Given the description of an element on the screen output the (x, y) to click on. 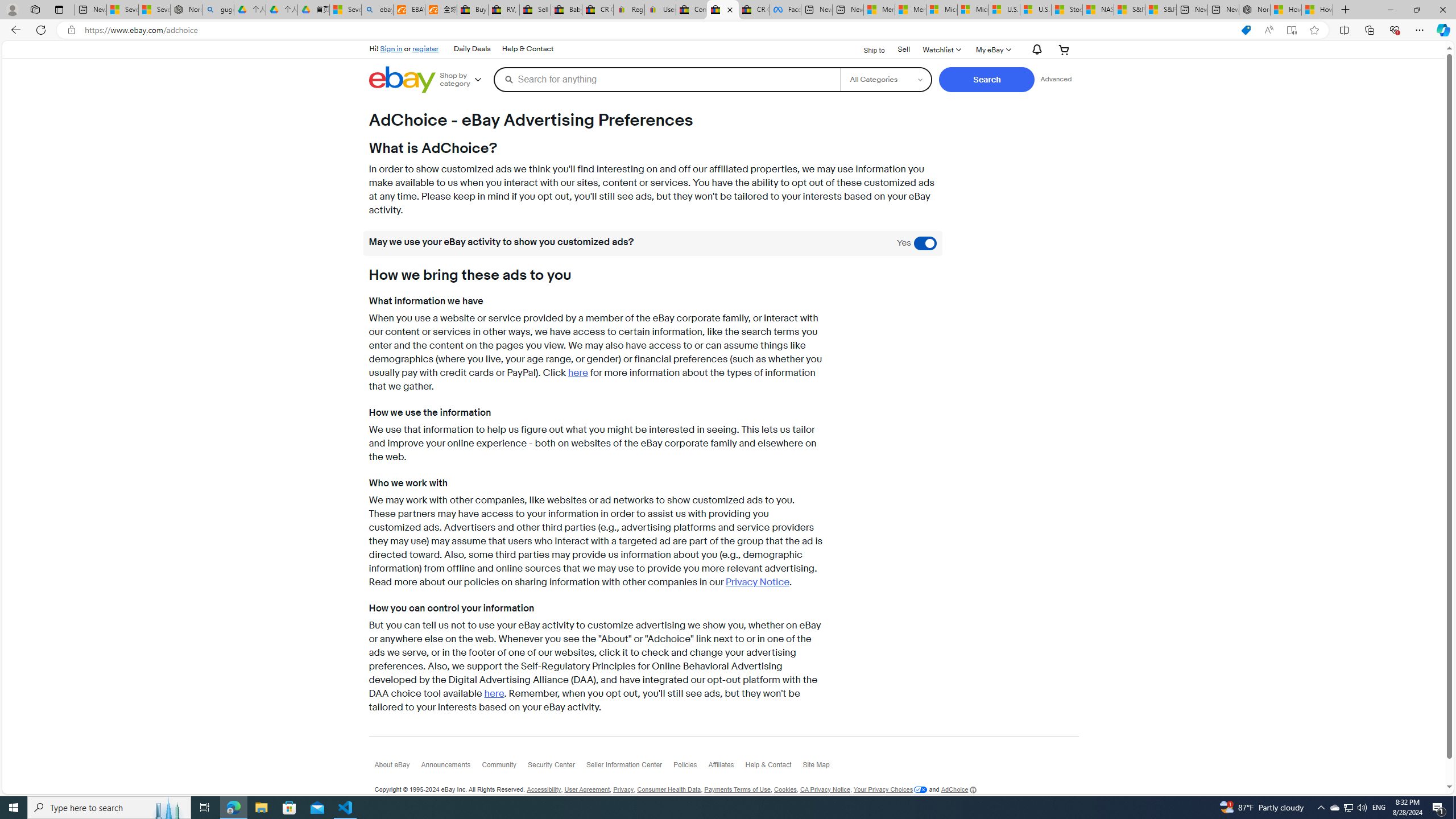
User Privacy Notice | eBay (660, 9)
About eBay (397, 767)
Register: Create a personal eBay account (628, 9)
Policies (690, 767)
CA Privacy Notice (824, 789)
